Given the description of an element on the screen output the (x, y) to click on. 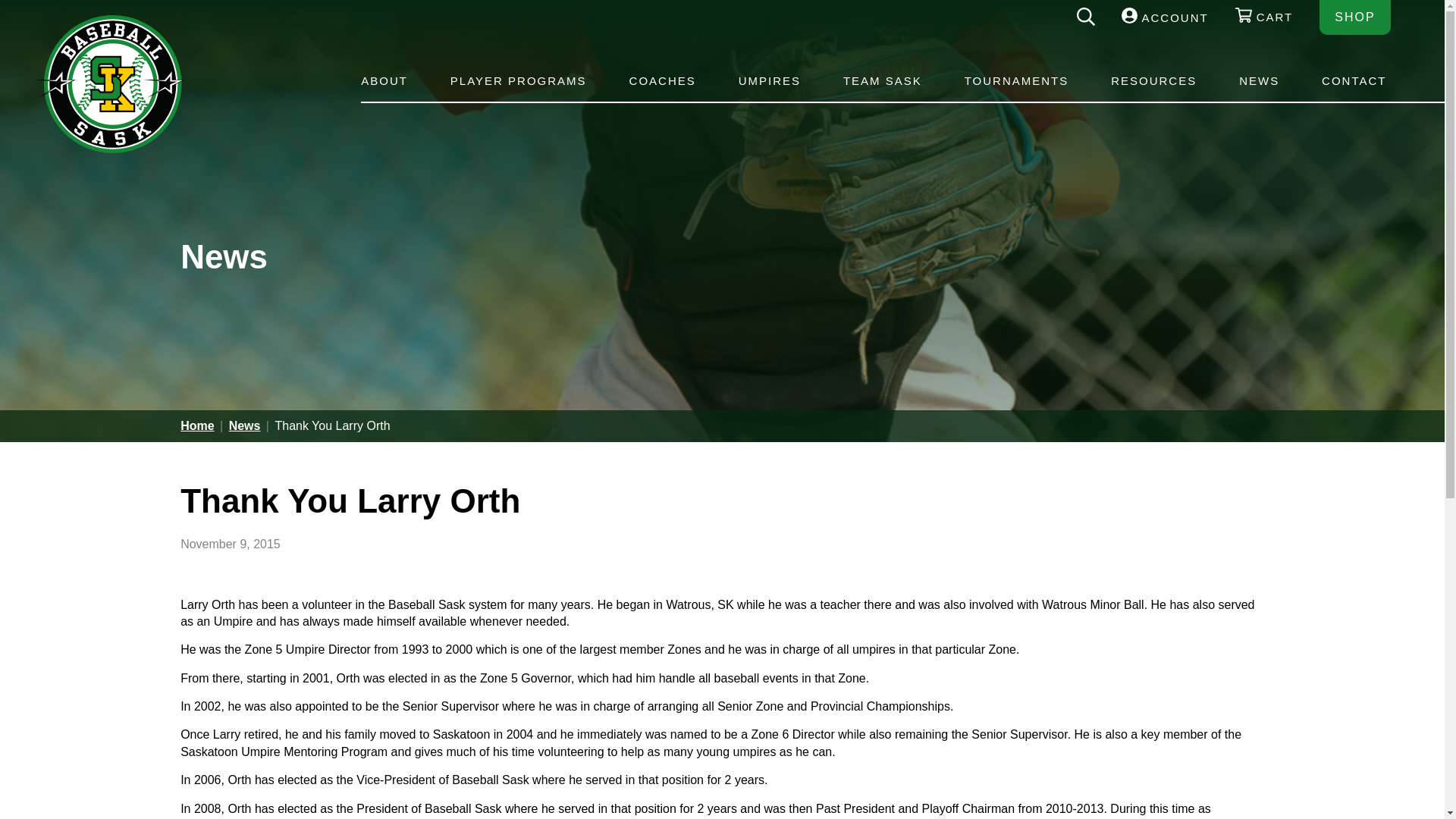
COACHES (663, 81)
Baseball Sask (108, 148)
TEAM SASK (883, 81)
ABOUT (386, 81)
UMPIRES (770, 81)
PLAYER PROGRAMS (518, 81)
